Given the description of an element on the screen output the (x, y) to click on. 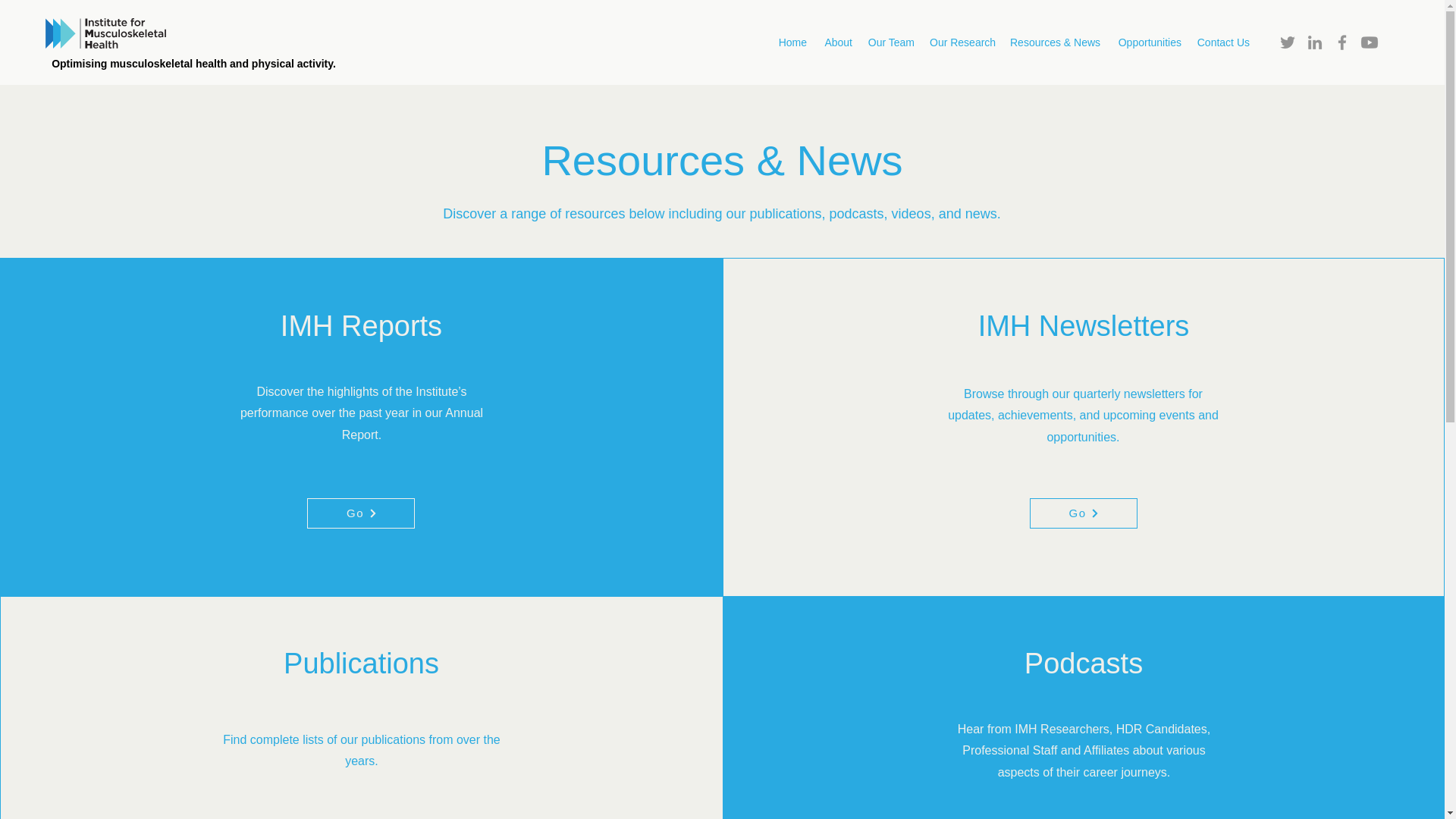
Contact Us (1223, 42)
Opportunities (1147, 42)
Our Research (962, 42)
About (836, 42)
Go (1083, 512)
Our Team (890, 42)
Go (360, 512)
Home (791, 42)
